Given the description of an element on the screen output the (x, y) to click on. 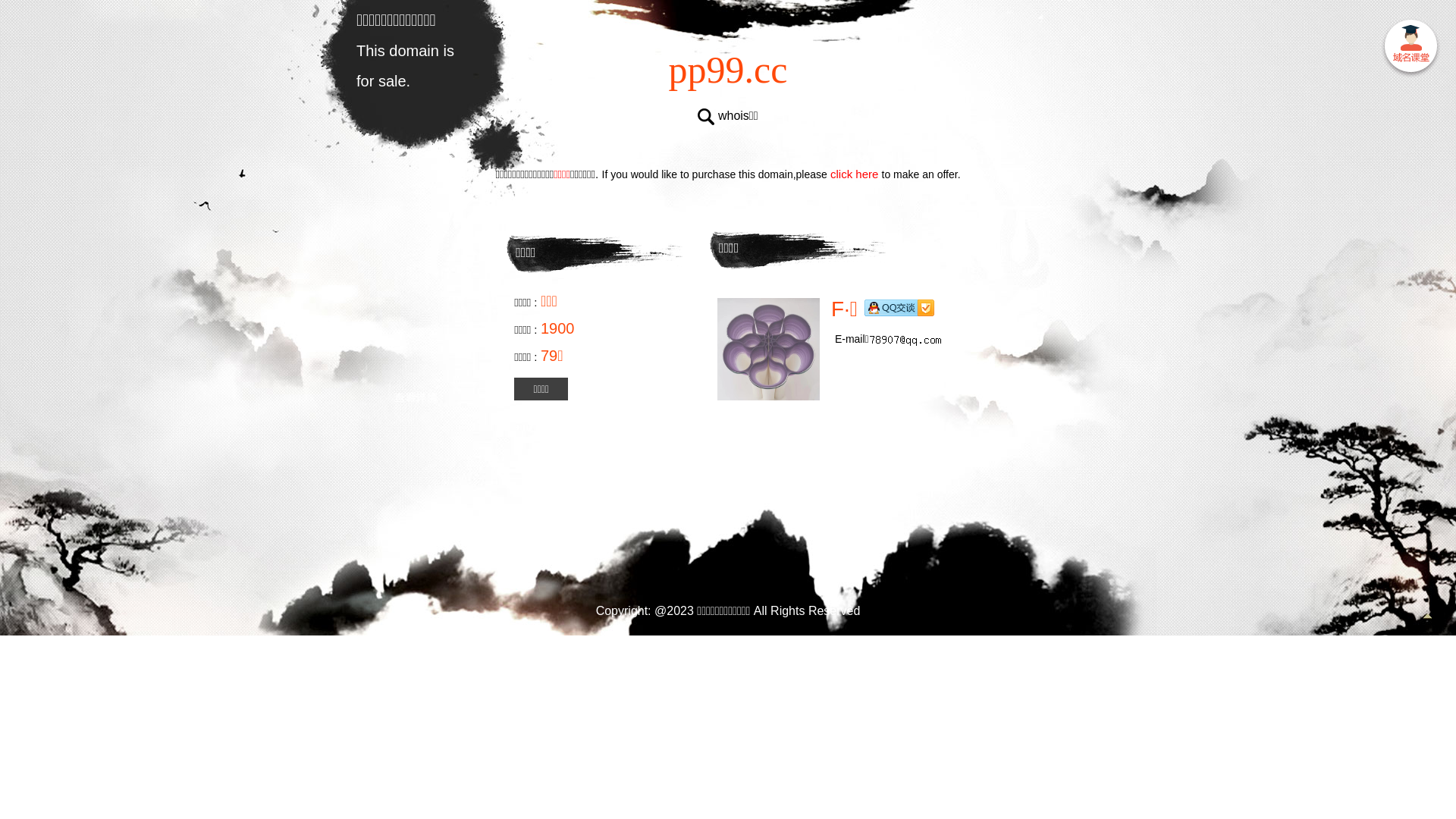
click here Element type: text (854, 173)
  Element type: text (1410, 48)
